Given the description of an element on the screen output the (x, y) to click on. 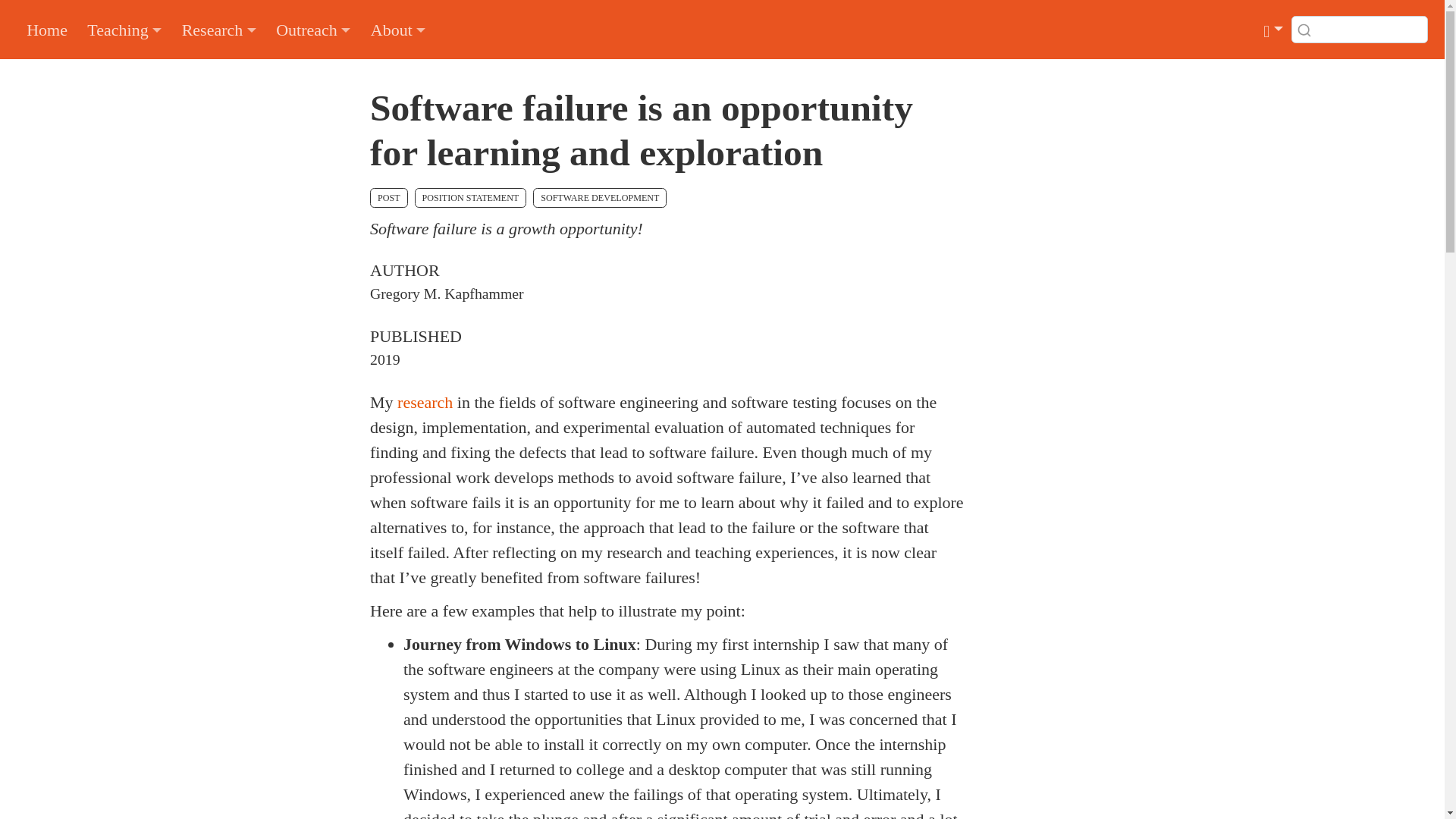
Home (46, 29)
Research (218, 29)
POSITION STATEMENT (470, 197)
research (424, 402)
Outreach (313, 29)
Teaching (124, 29)
POST (388, 197)
About (398, 29)
Submit (1304, 29)
SOFTWARE DEVELOPMENT (599, 197)
Search (225, 29)
